Given the description of an element on the screen output the (x, y) to click on. 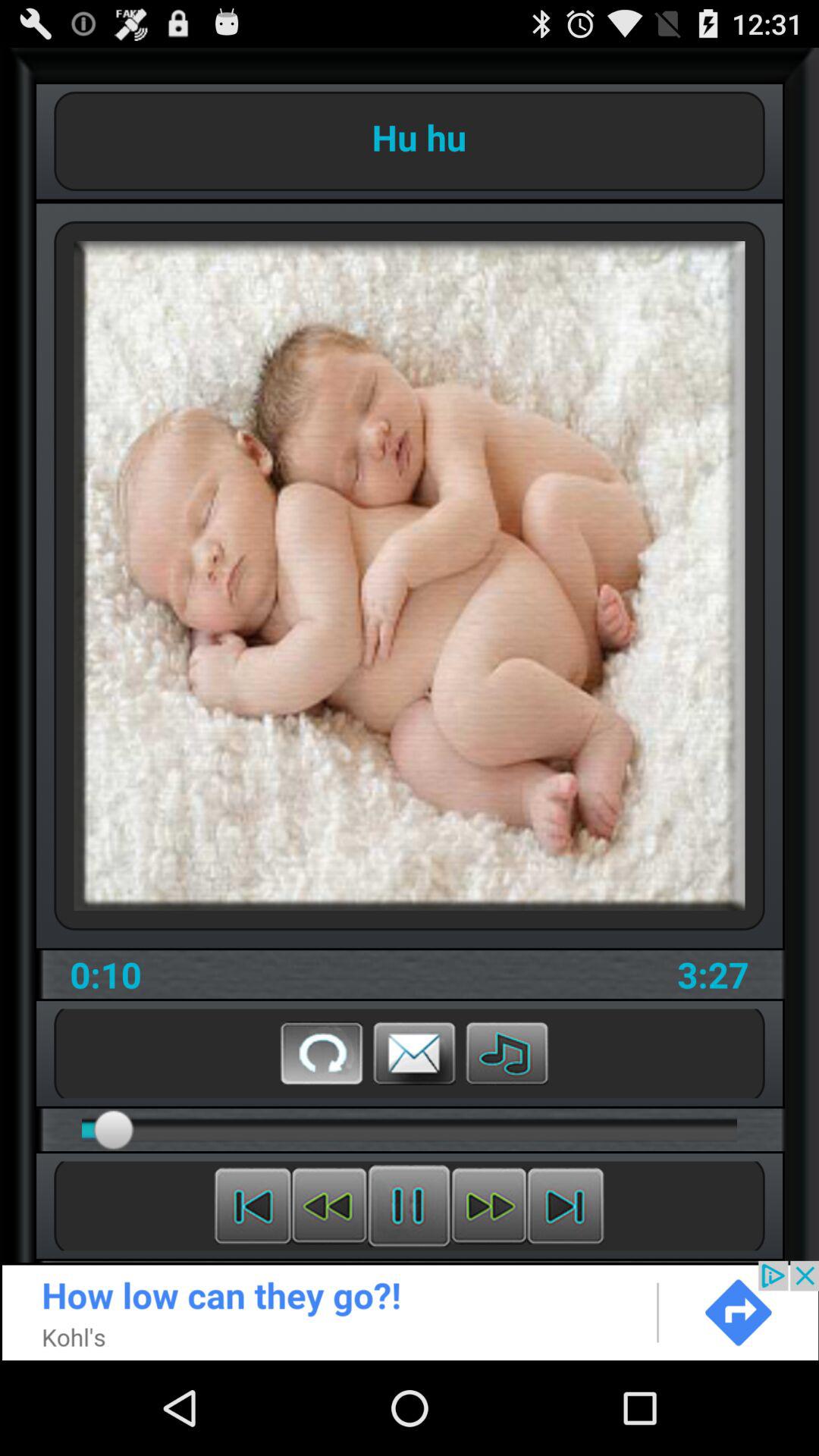
rewind the video (329, 1205)
